Given the description of an element on the screen output the (x, y) to click on. 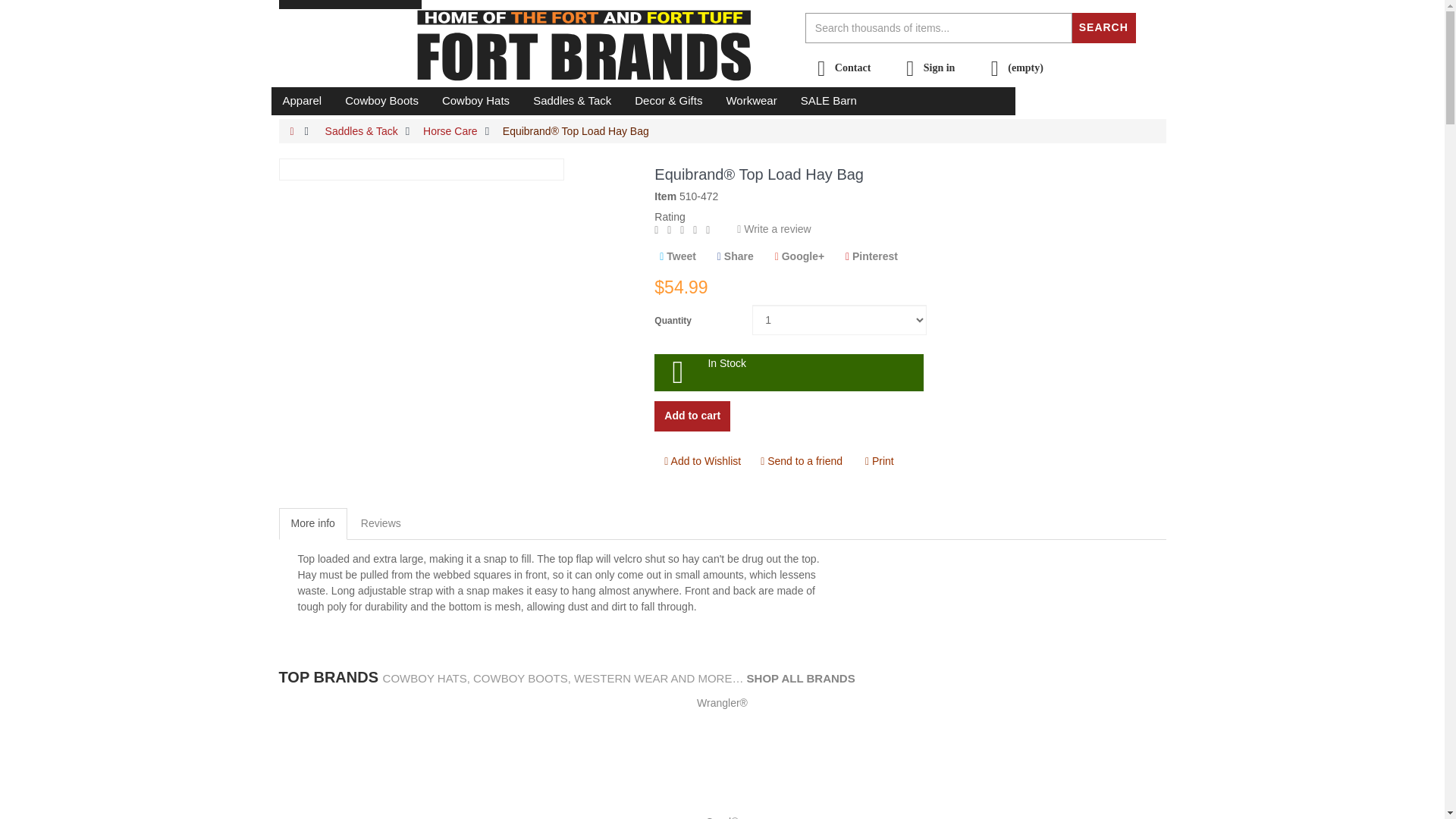
SEARCH (1103, 27)
 Contact (840, 67)
Apparel (301, 99)
Apparel (301, 99)
 Sign in (927, 67)
Fort Brands (598, 47)
